Given the description of an element on the screen output the (x, y) to click on. 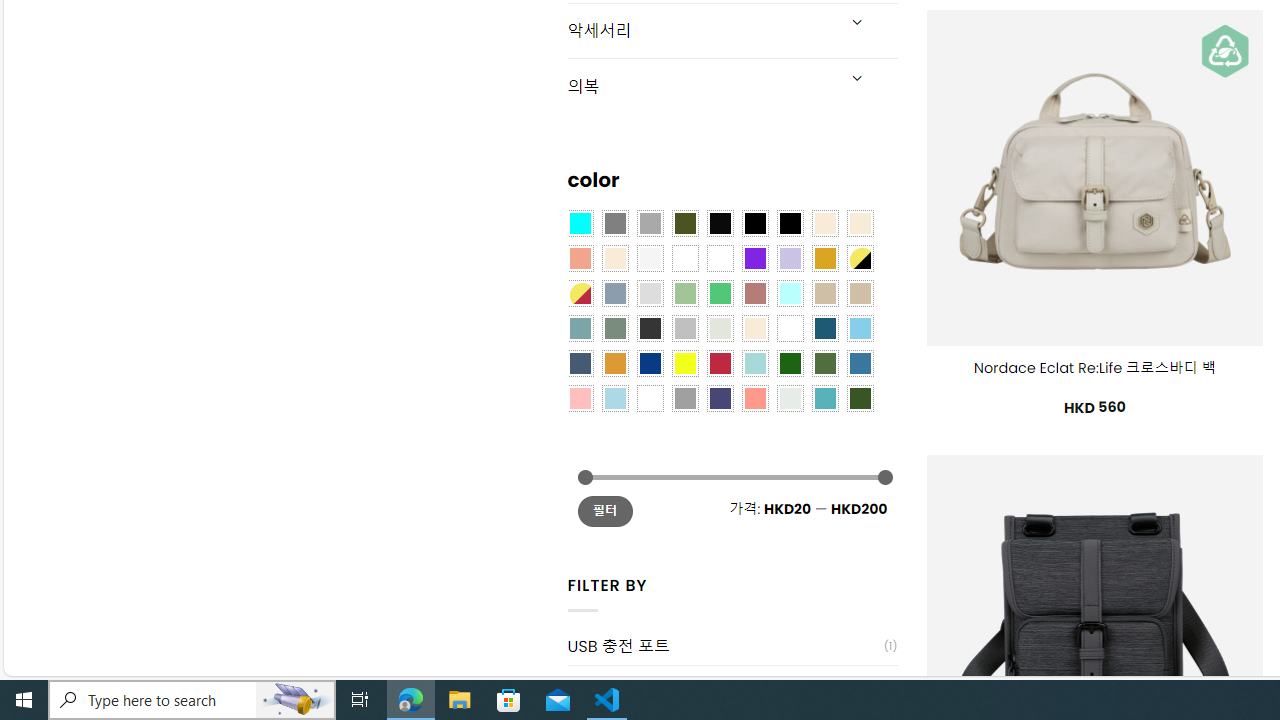
Coral (579, 257)
Cream (614, 257)
